Given the description of an element on the screen output the (x, y) to click on. 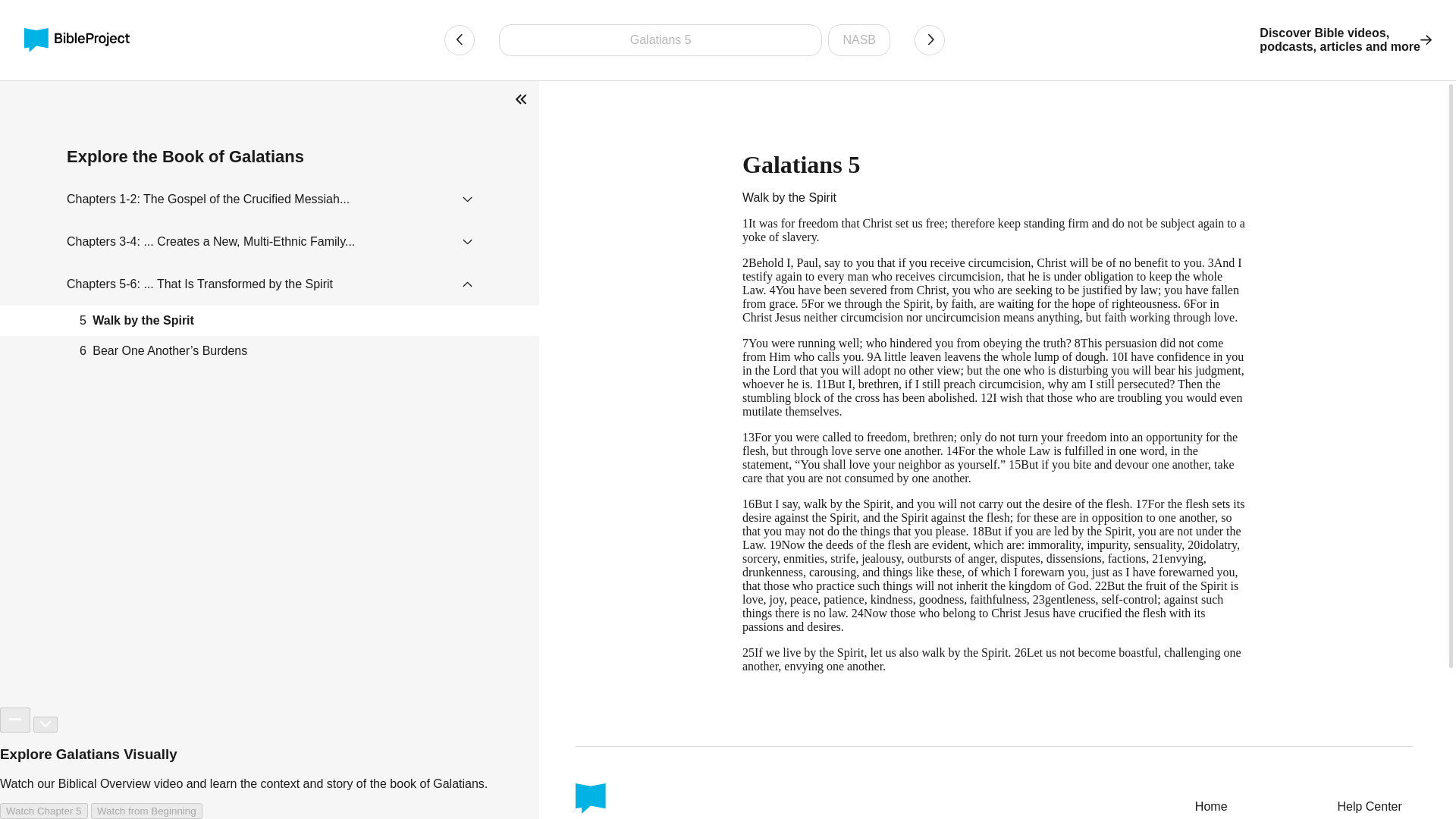
5 Walk by the Spirit (269, 320)
Galatians 6 (1345, 40)
Chapters 1-2: The Gospel of the Crucified Messiah... (929, 40)
Chapters 5-6: ... That Is Transformed by the Spirit (207, 199)
Help Center (199, 284)
Home (1374, 806)
Chapters 3-4: ... Creates a New, Multi-Ethnic Family... (1233, 806)
Galatians 4 (210, 241)
